Given the description of an element on the screen output the (x, y) to click on. 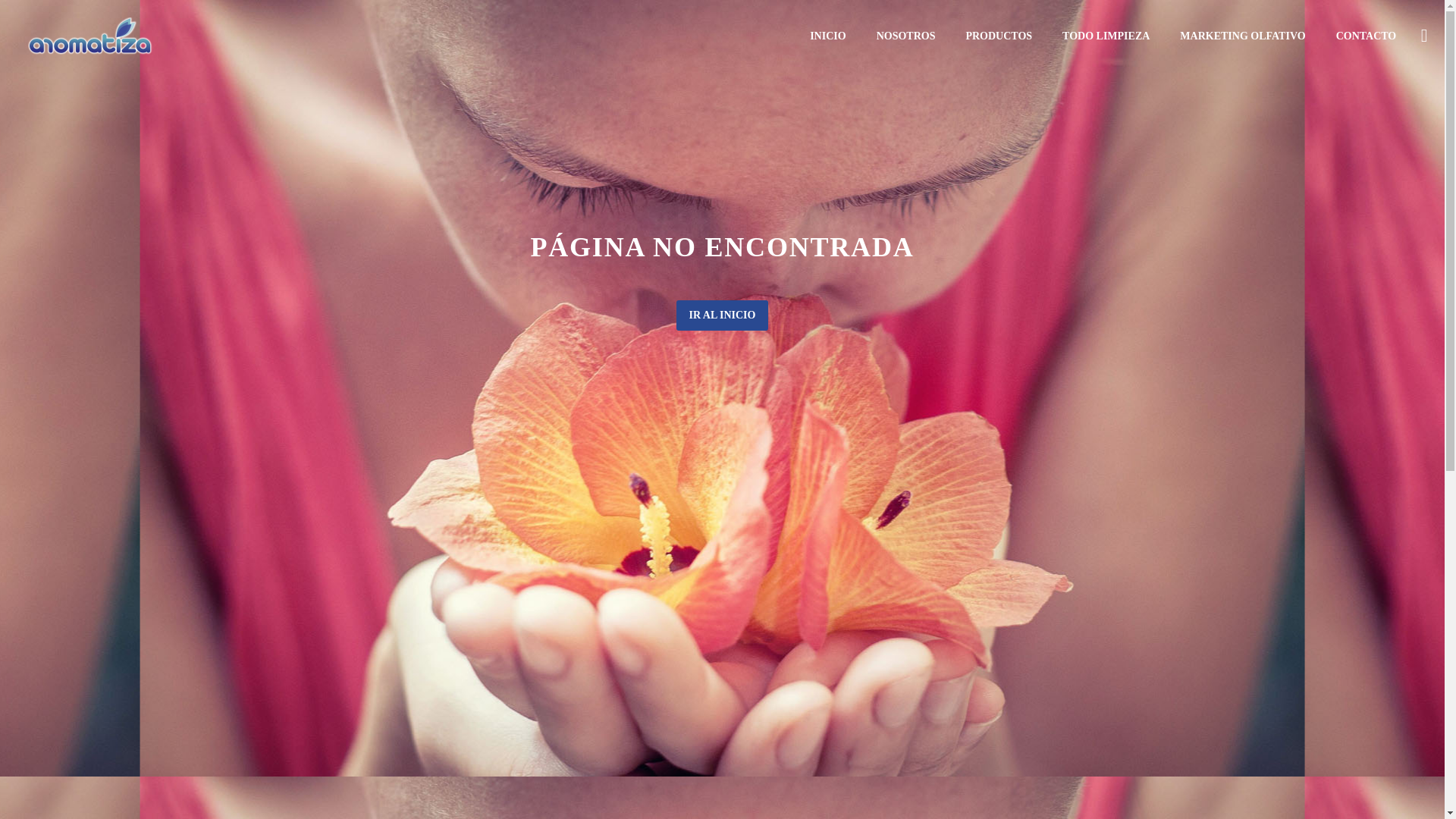
NOSOTROS (905, 36)
CONTACTO (1366, 36)
IR AL INICIO (722, 315)
TODO LIMPIEZA (1105, 36)
MARKETING OLFATIVO (1242, 36)
INICIO (827, 36)
PRODUCTOS (998, 36)
